Given the description of an element on the screen output the (x, y) to click on. 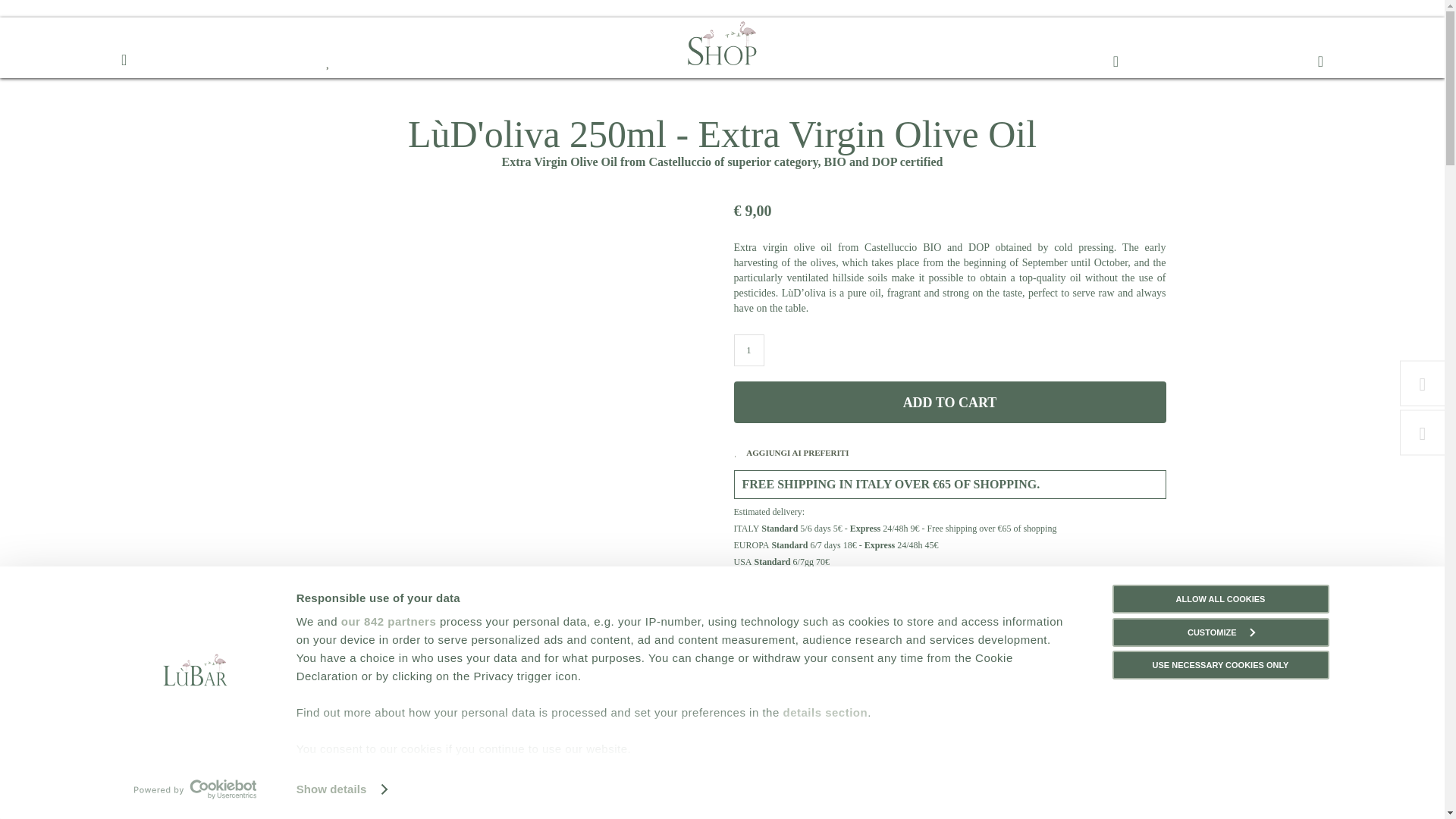
1 (748, 350)
details section (825, 712)
our 842 partners (388, 621)
Show details (341, 789)
